Given the description of an element on the screen output the (x, y) to click on. 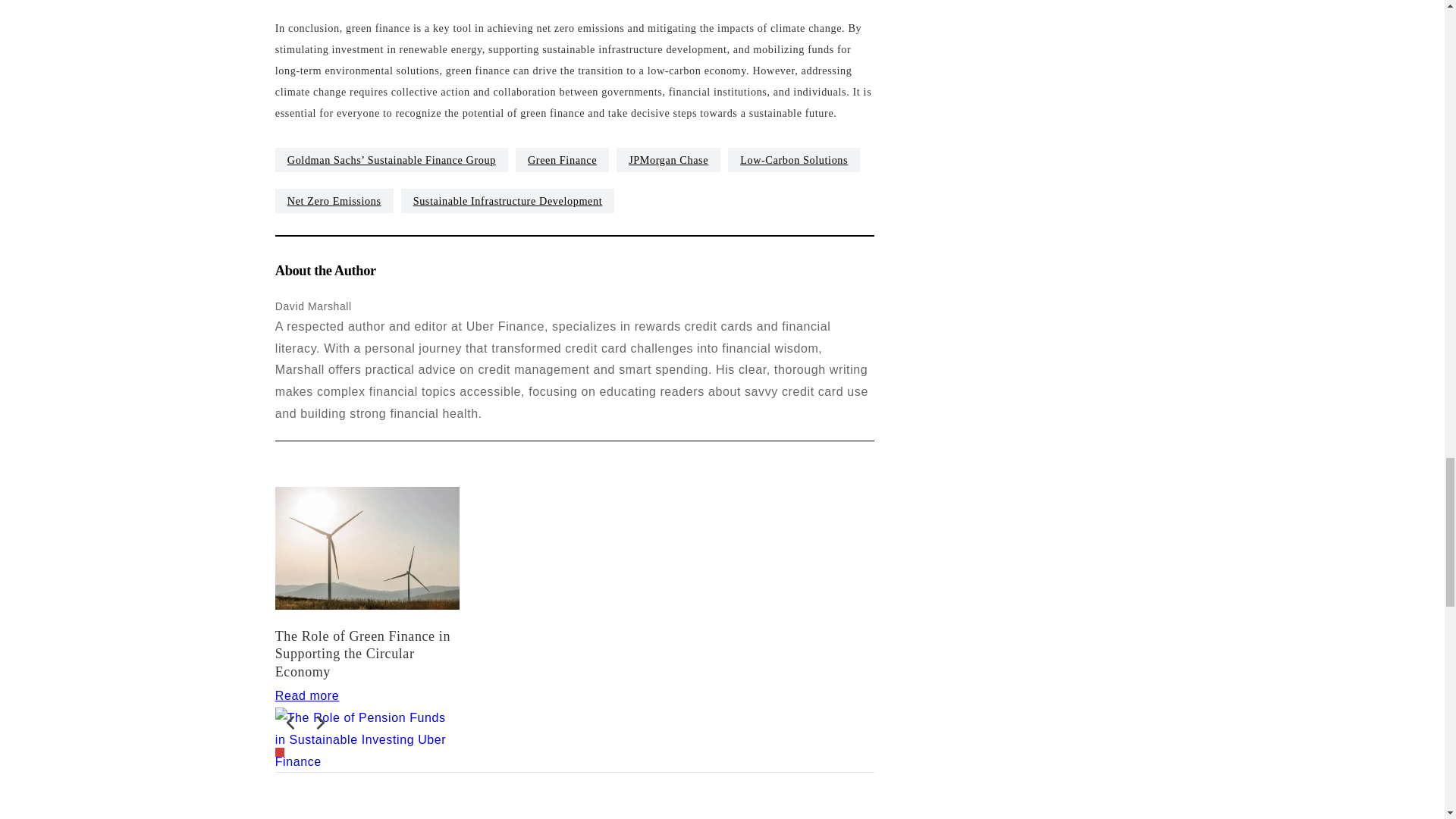
Net Zero Emissions (334, 200)
Green Finance (561, 159)
Sustainable Infrastructure Development (507, 200)
JPMorgan Chase (667, 159)
Low-Carbon Solutions (794, 159)
